Given the description of an element on the screen output the (x, y) to click on. 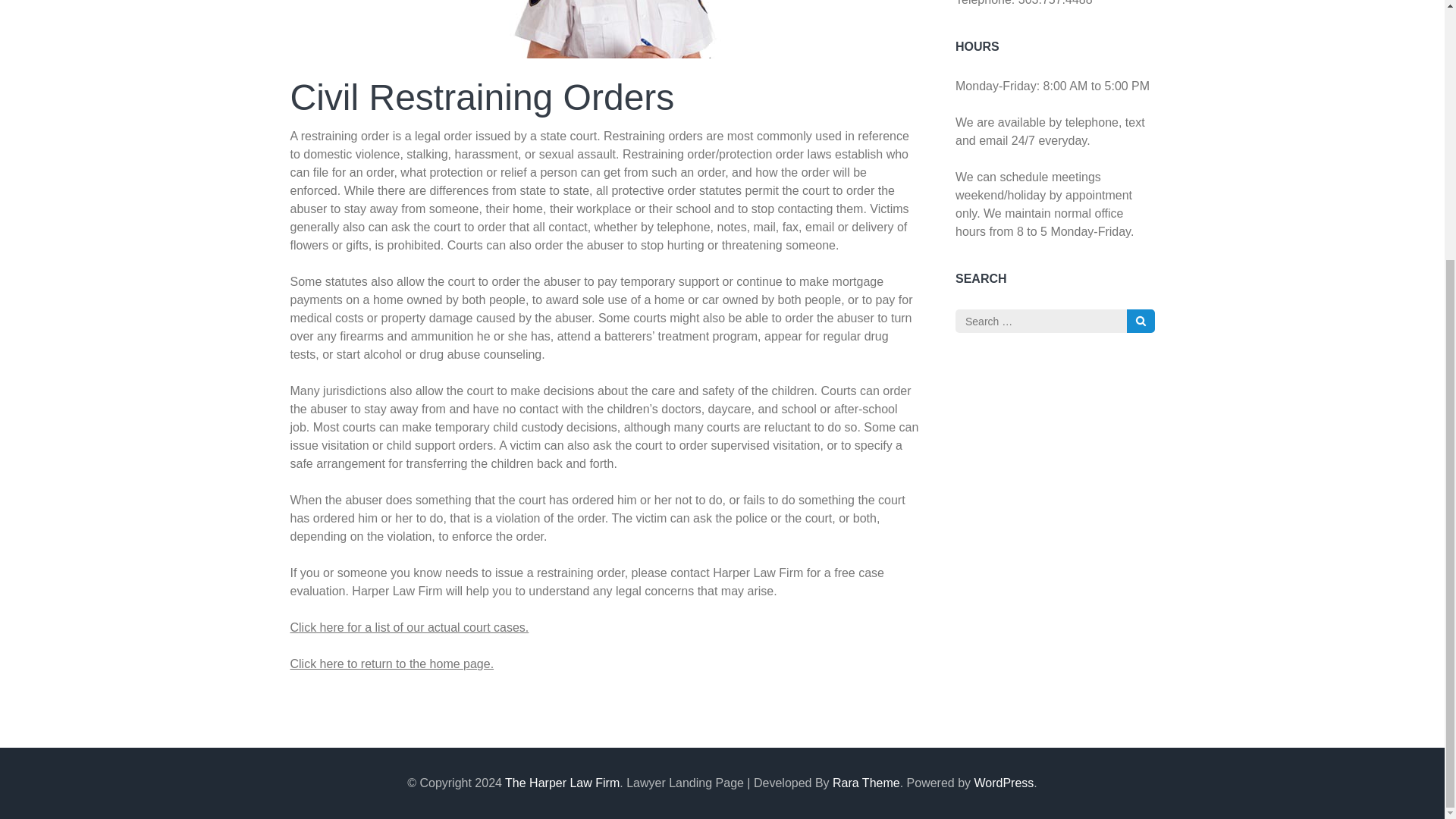
Search (1140, 320)
Search (1140, 320)
Click here for a list of our actual court cases. (408, 626)
Search (1140, 320)
Rara Theme (865, 782)
The Harper Law Firm (562, 782)
WordPress (1003, 782)
Click here to return to the home page. (391, 663)
